Given the description of an element on the screen output the (x, y) to click on. 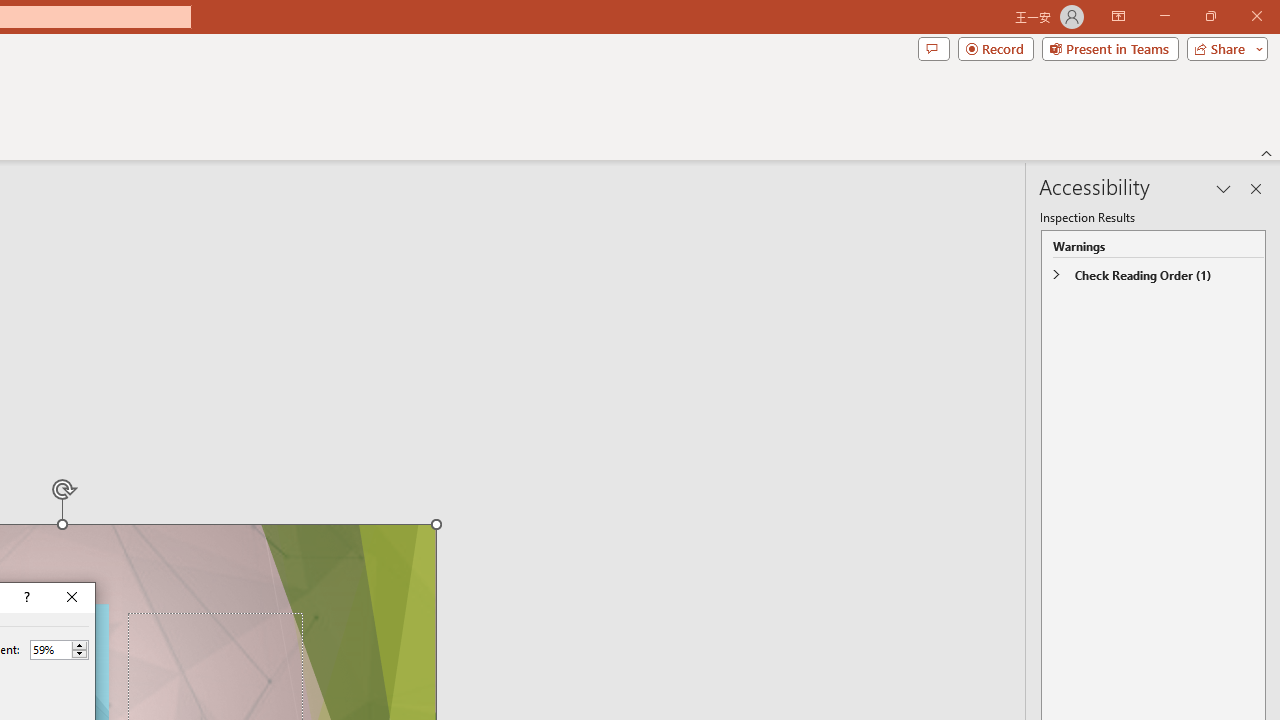
Percent (50, 649)
